Given the description of an element on the screen output the (x, y) to click on. 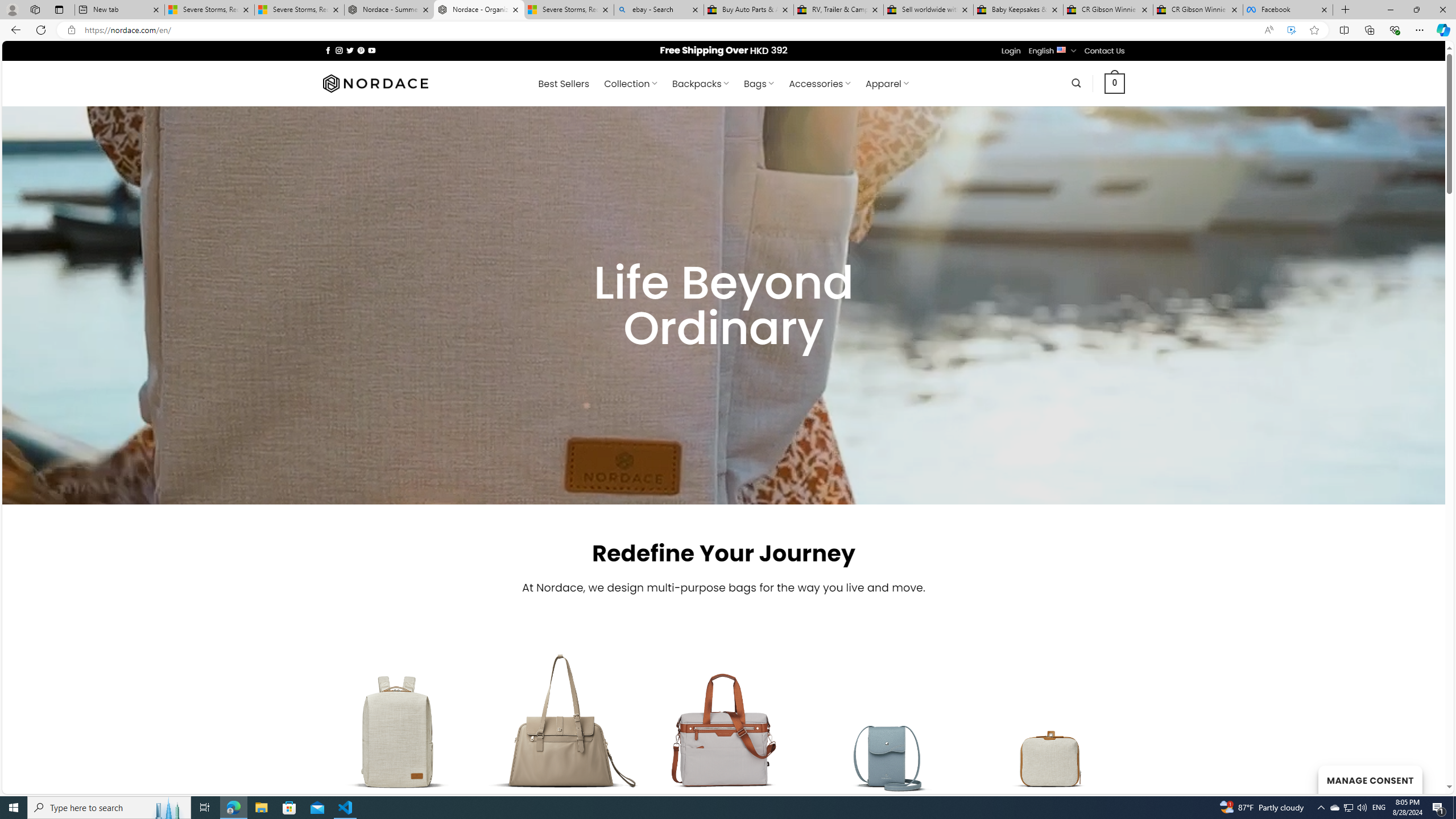
Enhance video (1291, 29)
 0  (1115, 83)
Follow on YouTube (371, 49)
Facebook (1287, 9)
ebay - Search (658, 9)
